Given the description of an element on the screen output the (x, y) to click on. 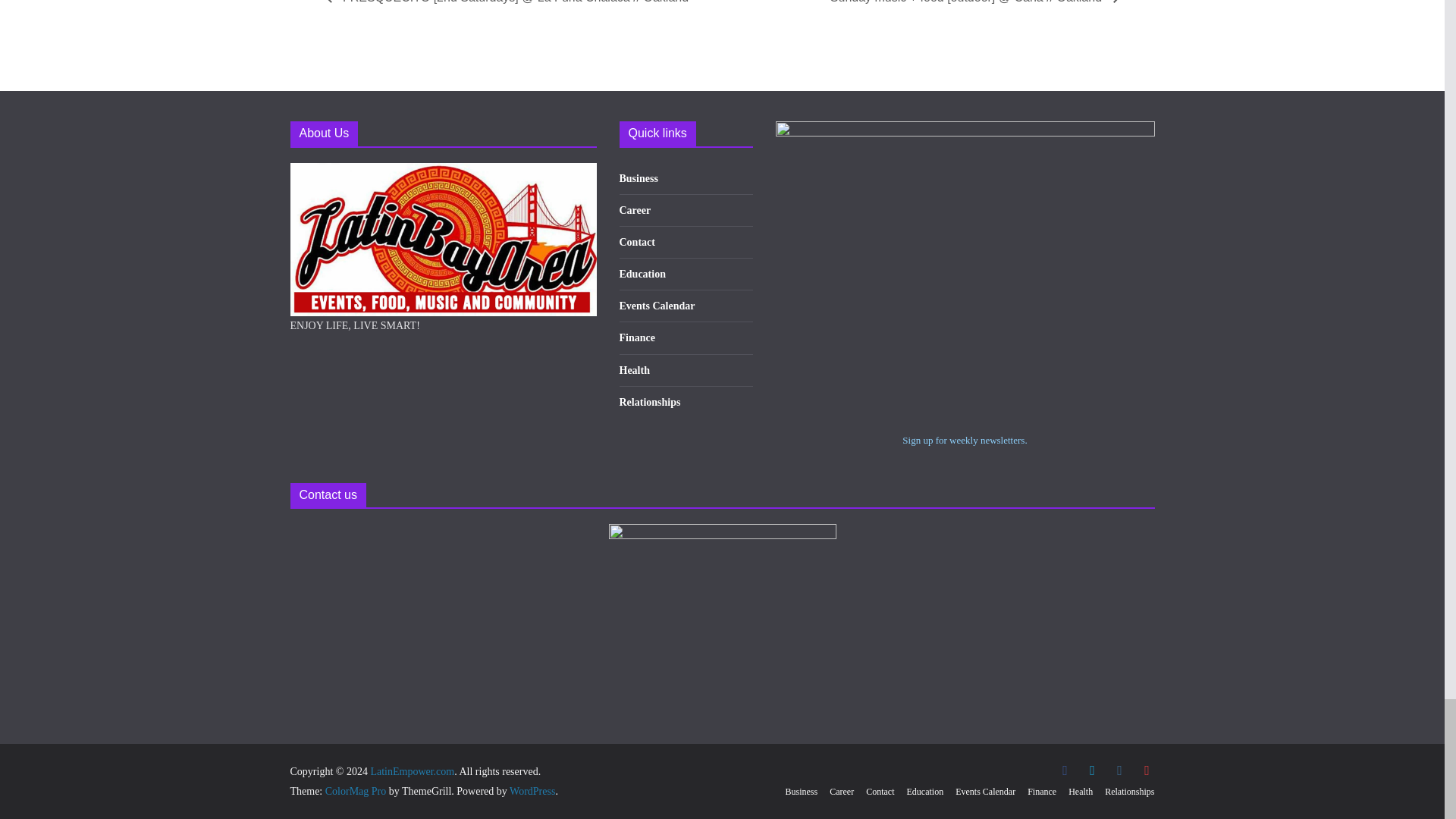
COLORMAG (442, 172)
Events Calendar (656, 306)
Education (641, 274)
ColorMag Pro (355, 790)
Contact (635, 242)
LatinEmpower.com (411, 771)
Career (634, 210)
Business (638, 178)
WordPress (531, 790)
